Given the description of an element on the screen output the (x, y) to click on. 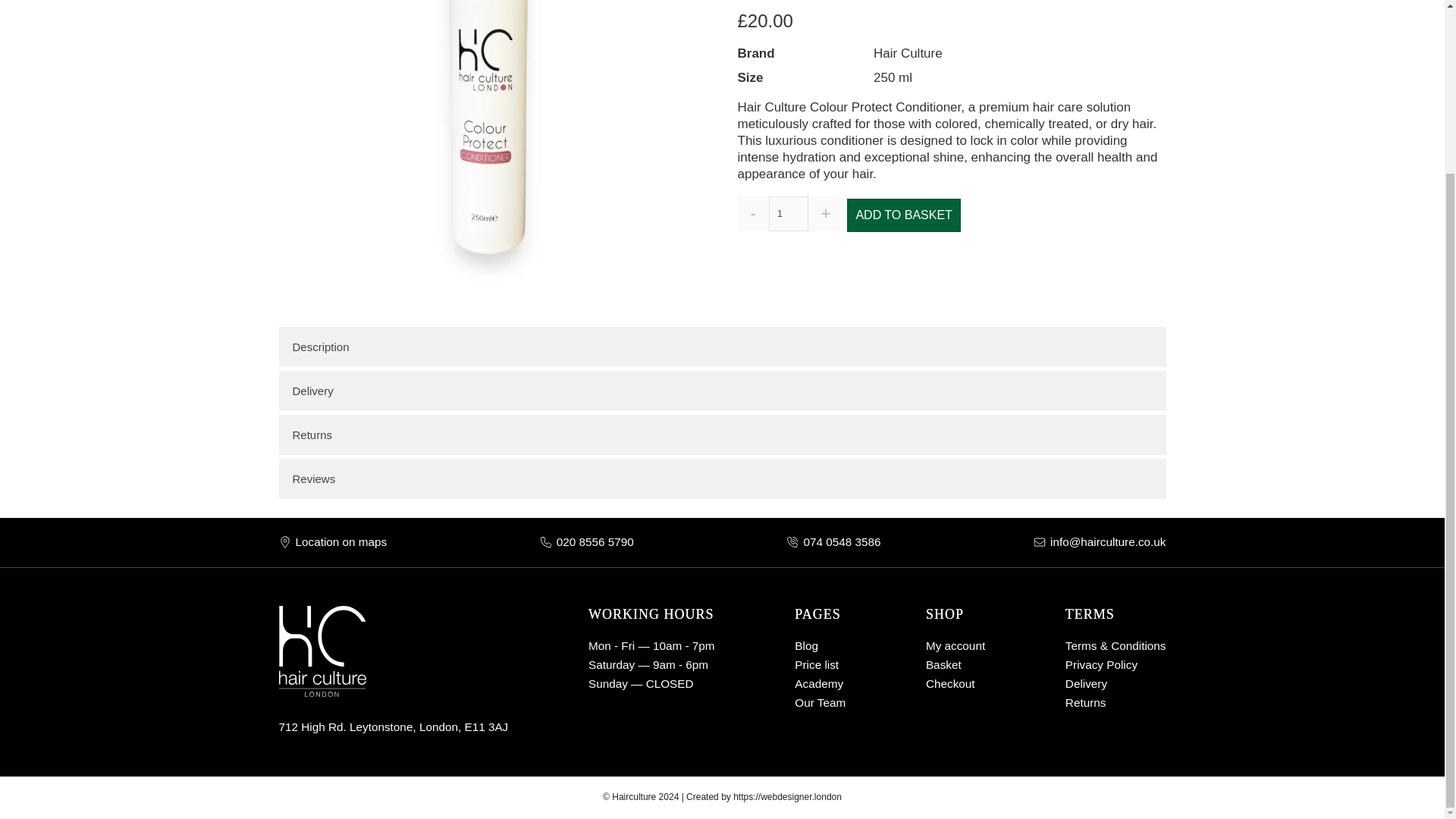
Basket (943, 664)
Blog (806, 645)
Description (722, 346)
Checkout (950, 683)
- (752, 213)
Price list (816, 664)
Returns (1085, 702)
Delivery (722, 391)
Reviews (722, 478)
My account (806, 645)
My account (955, 645)
074 0548 3586 (841, 541)
Hair Culture Colour Protect Conditioner (489, 151)
712 High Rd. Leytonstone, London, E11 3AJ (393, 726)
ADD TO BASKET (903, 215)
